Given the description of an element on the screen output the (x, y) to click on. 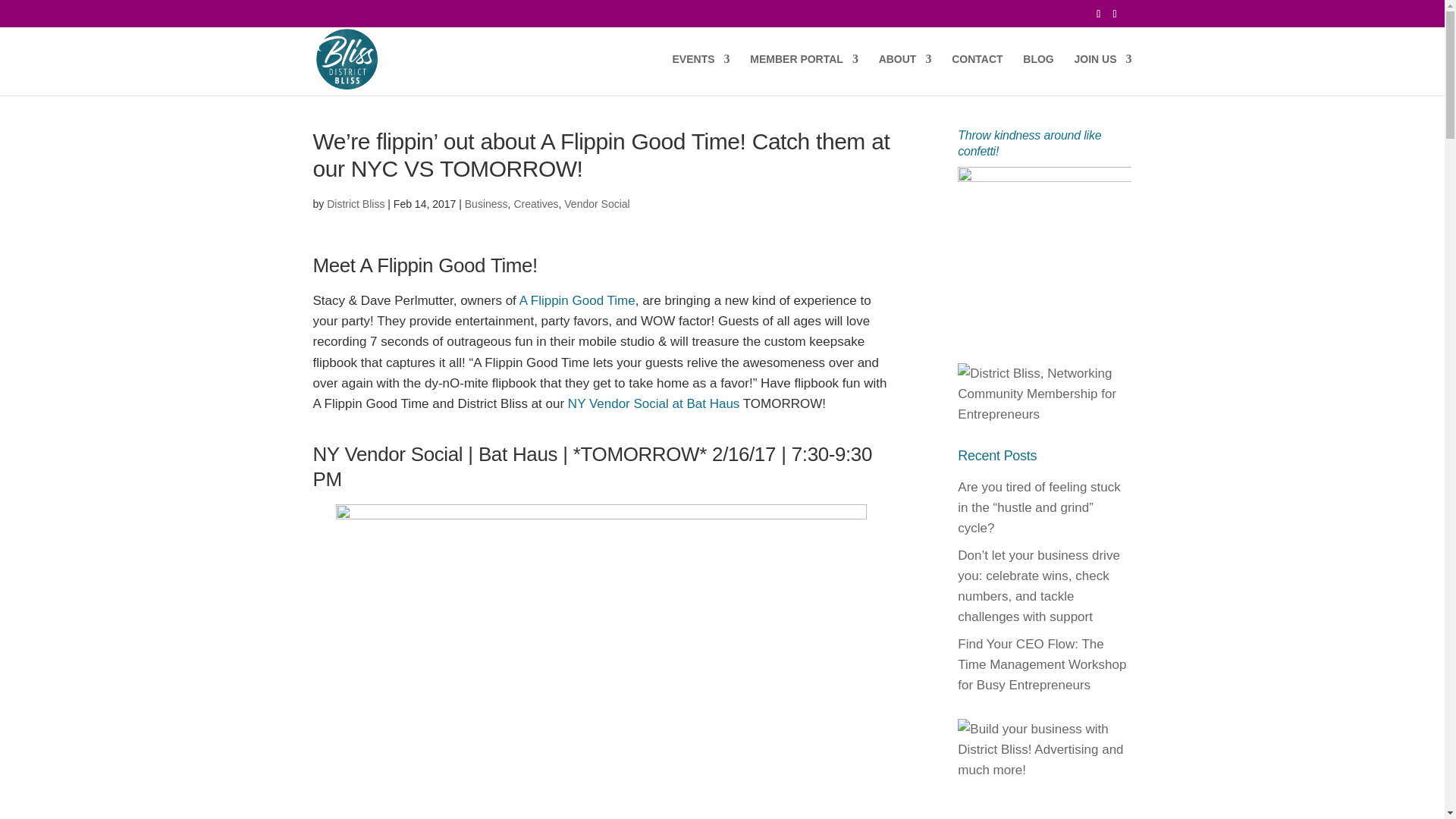
MEMBER PORTAL (804, 74)
JOIN US (1102, 74)
A Flippin Good Time! (448, 264)
A Flippin Good Time (576, 300)
District Bliss (355, 203)
Creatives (535, 203)
Bat Haus (518, 454)
Vendor Social (596, 203)
NY Vendor Social (388, 454)
Posts by District Bliss (355, 203)
